Given the description of an element on the screen output the (x, y) to click on. 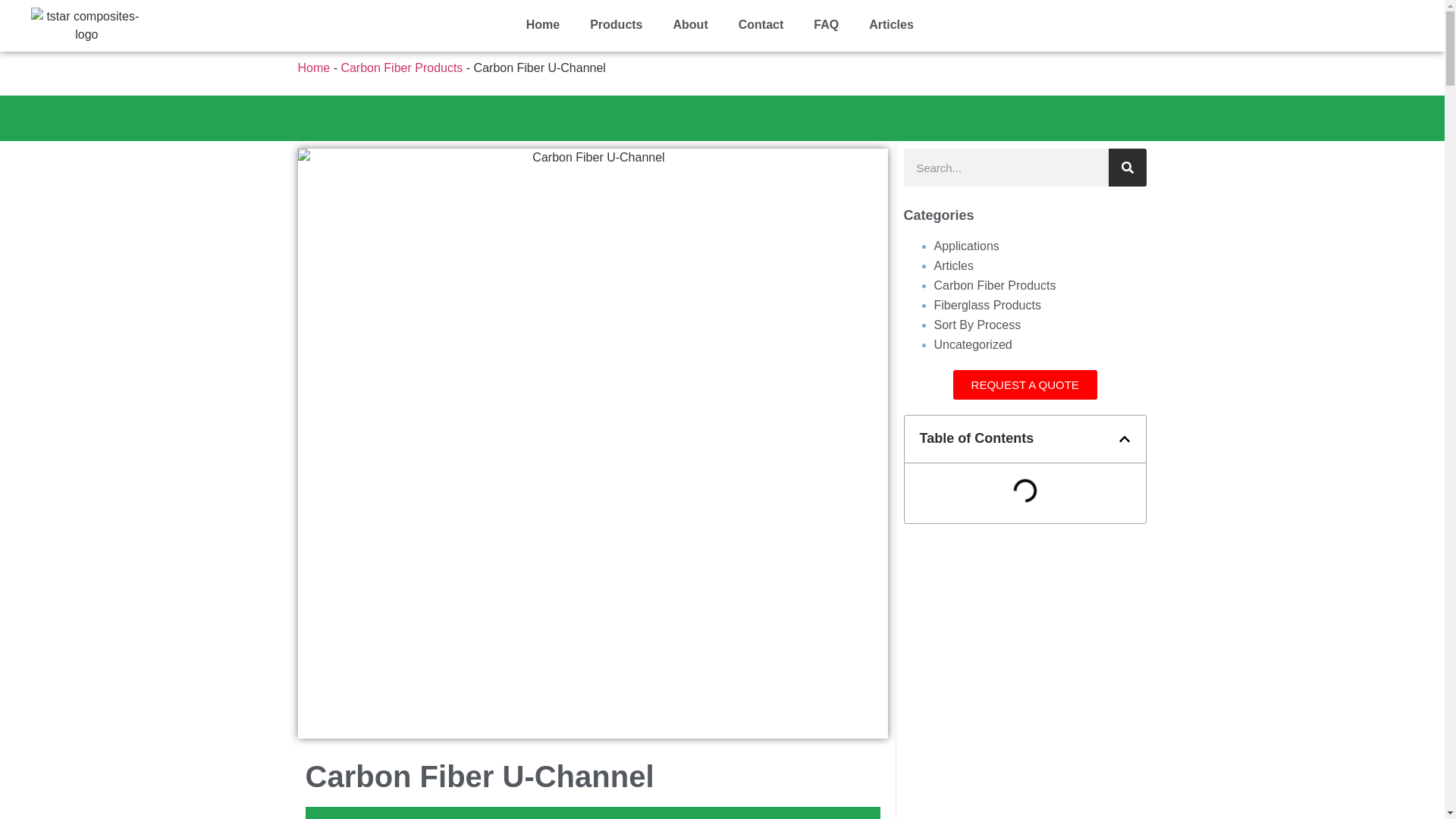
Contact (761, 24)
About (690, 24)
Articles (890, 24)
FAQ (825, 24)
Home (543, 24)
Products (616, 24)
